Given the description of an element on the screen output the (x, y) to click on. 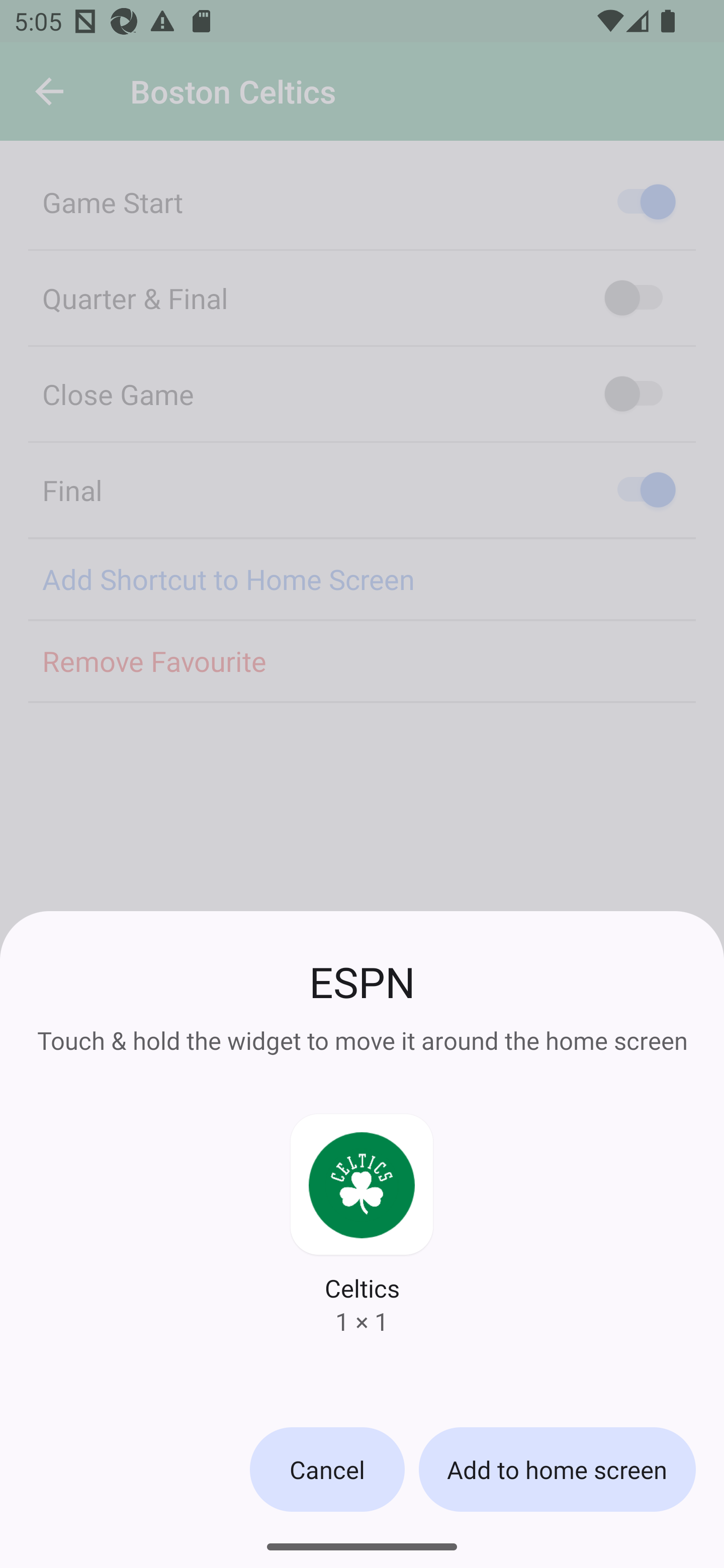
Cancel (326, 1468)
Add to home screen (556, 1468)
